Given the description of an element on the screen output the (x, y) to click on. 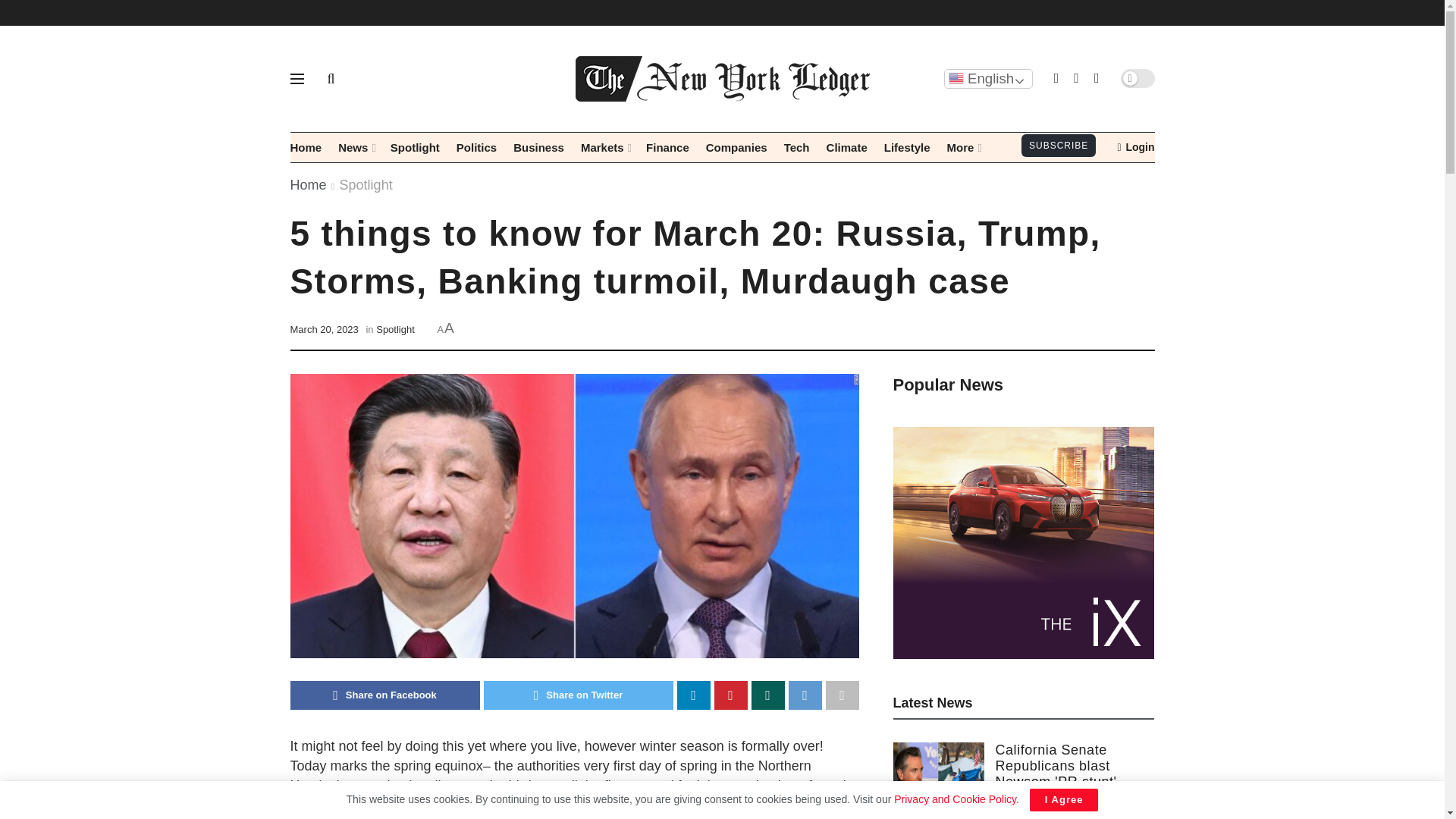
English (987, 78)
Home (305, 147)
News (355, 147)
